Given the description of an element on the screen output the (x, y) to click on. 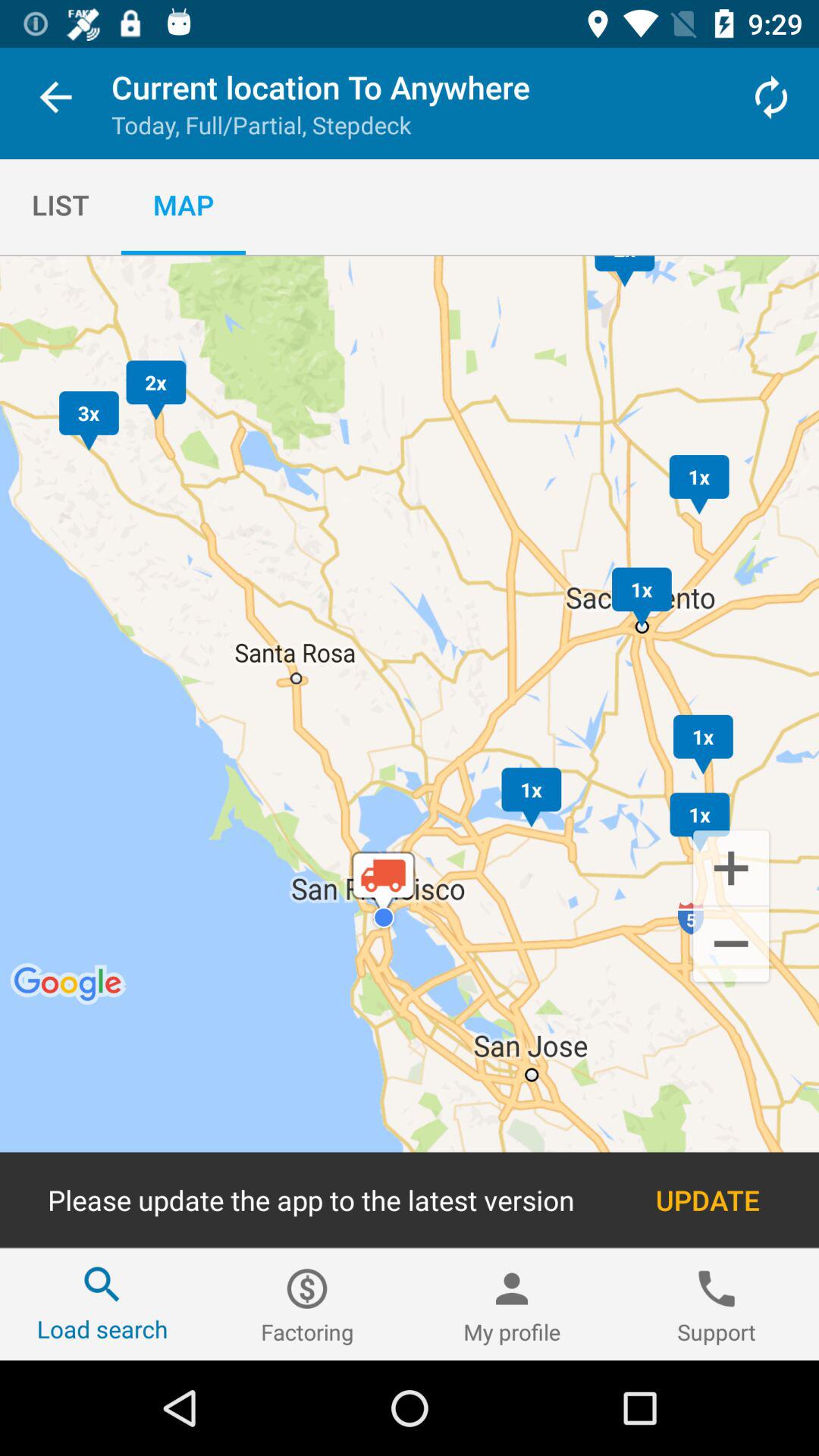
swipe until the my profile item (511, 1304)
